Given the description of an element on the screen output the (x, y) to click on. 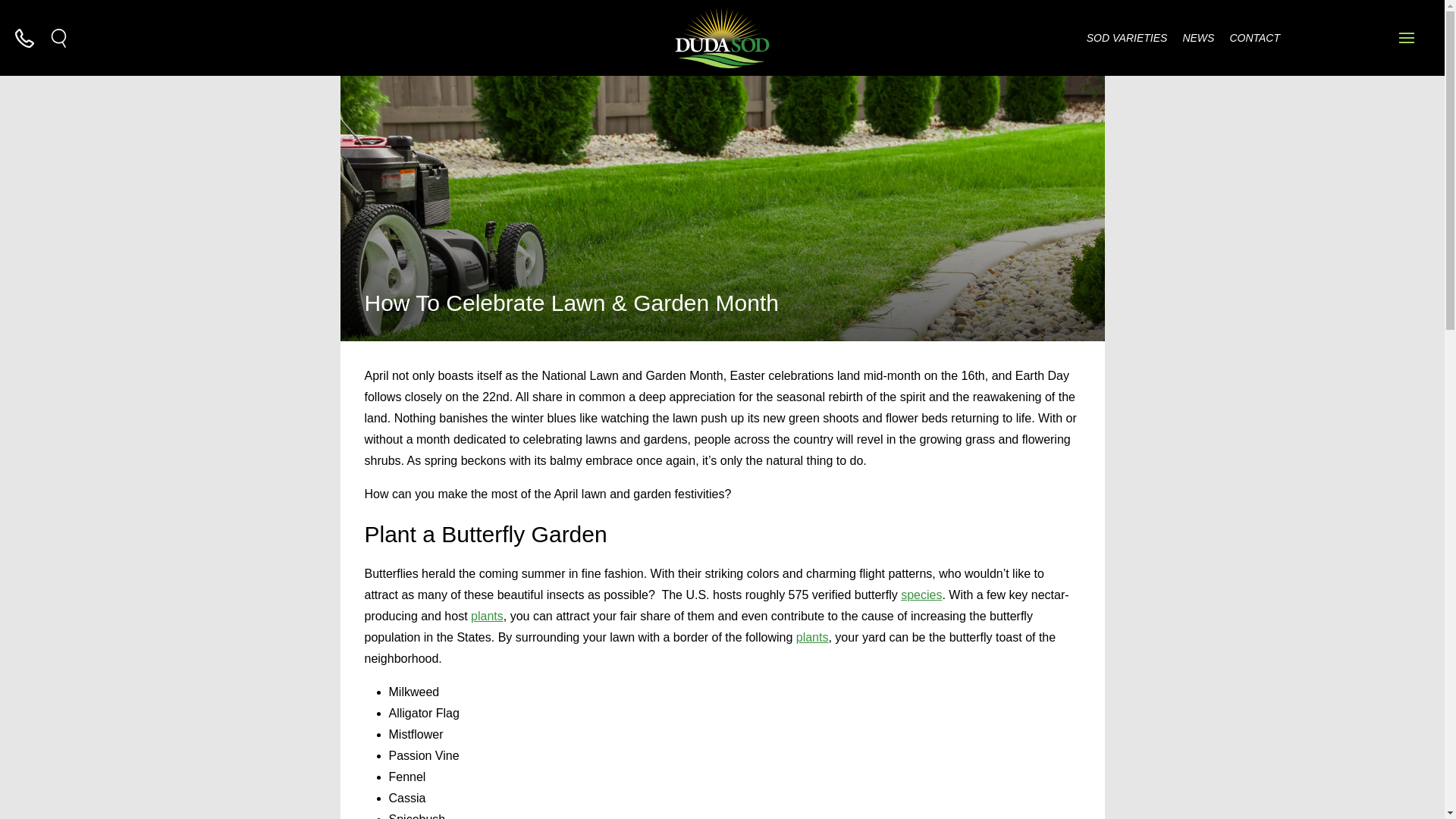
SOD VARIETIES (1126, 38)
plants (812, 636)
species (921, 594)
plants (486, 615)
